Given the description of an element on the screen output the (x, y) to click on. 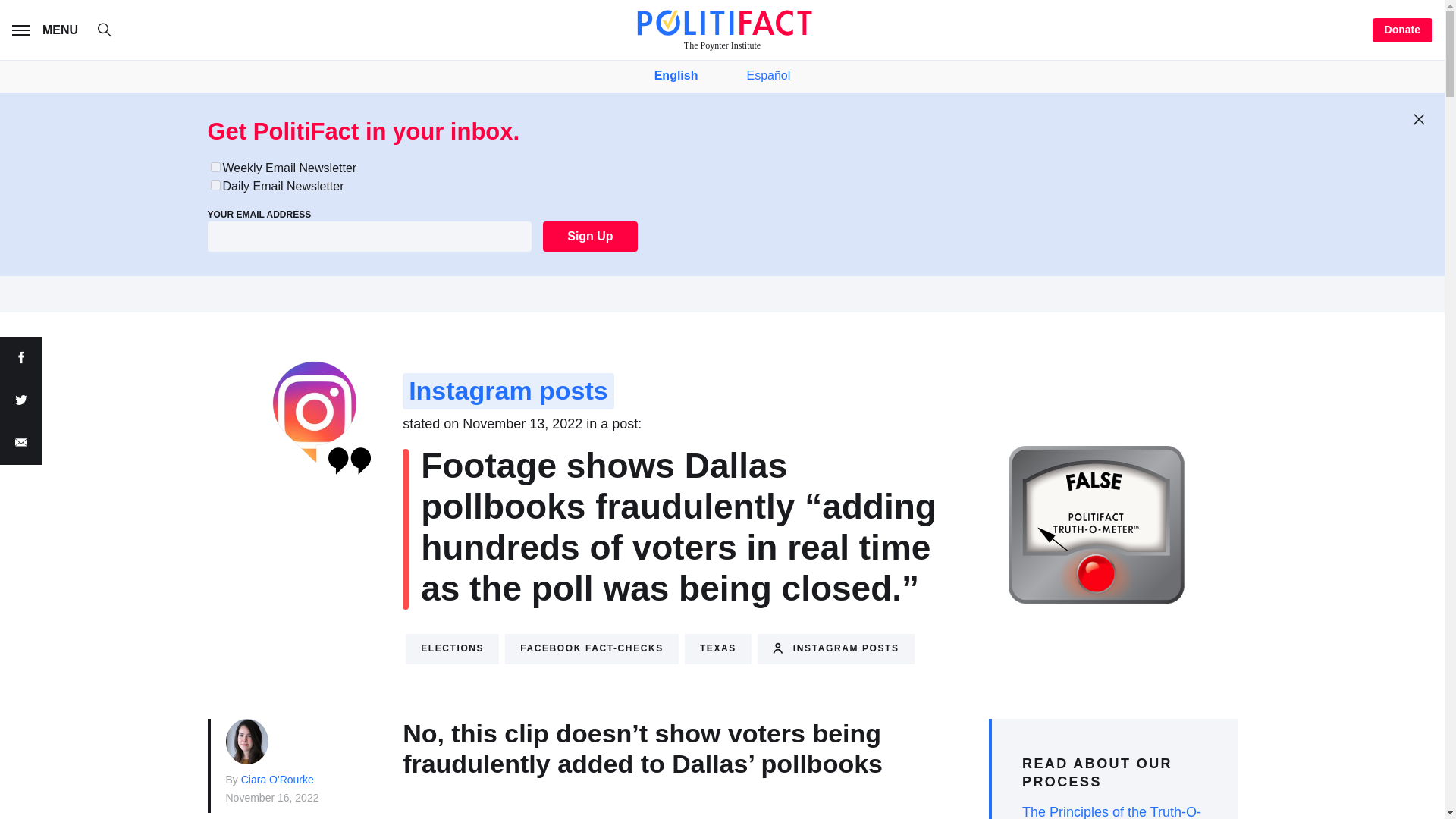
MENU (47, 30)
Texas (717, 648)
Search (111, 31)
Instagram posts (508, 391)
Donate (1402, 30)
The Poynter Institute (721, 29)
Elections (452, 648)
Facebook Fact-checks (591, 648)
Instagram posts (835, 648)
